Given the description of an element on the screen output the (x, y) to click on. 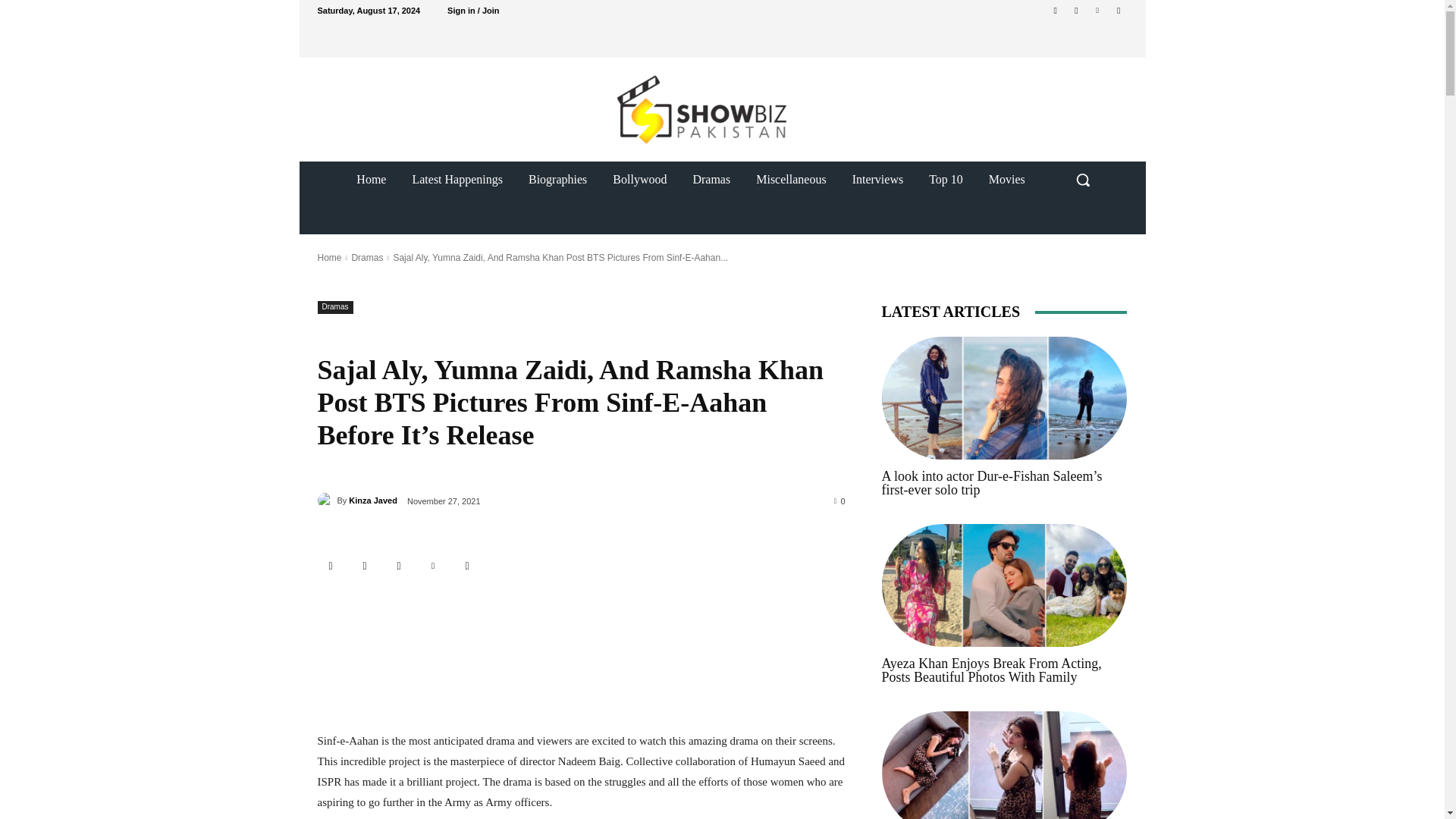
0 (839, 500)
Biographies (557, 179)
Youtube (1117, 9)
Instagram (1075, 9)
Share (330, 565)
Latest Happenings (456, 179)
Top 10 (945, 179)
Dramas (334, 307)
Bollywood (639, 179)
Facebook (365, 565)
